Given the description of an element on the screen output the (x, y) to click on. 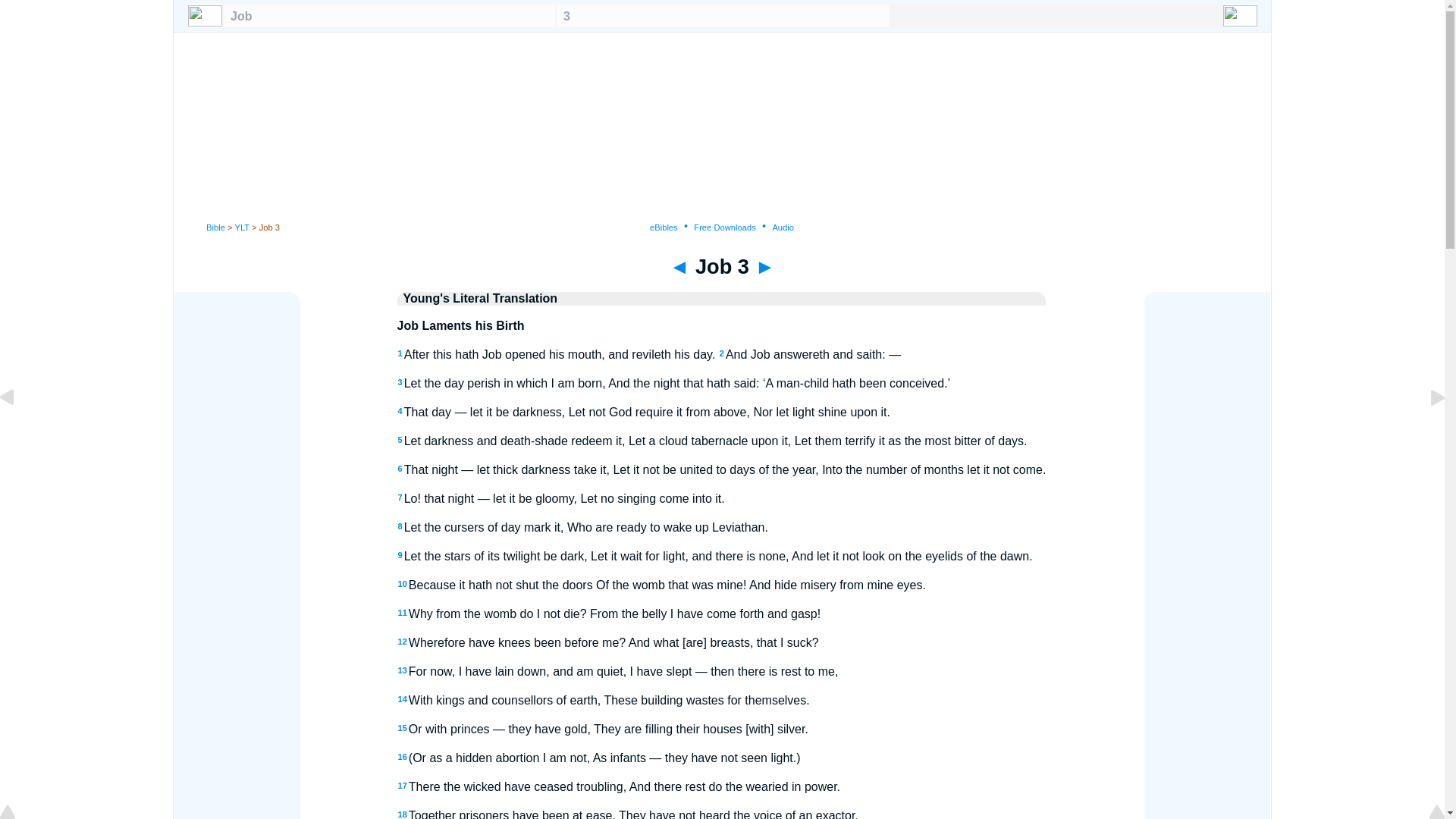
14 (402, 698)
16 (402, 756)
12 (402, 641)
Job 2 (18, 431)
11 (402, 612)
17 (402, 785)
15 (402, 727)
Top of Page (18, 813)
18 (402, 814)
Bible (215, 226)
